Given the description of an element on the screen output the (x, y) to click on. 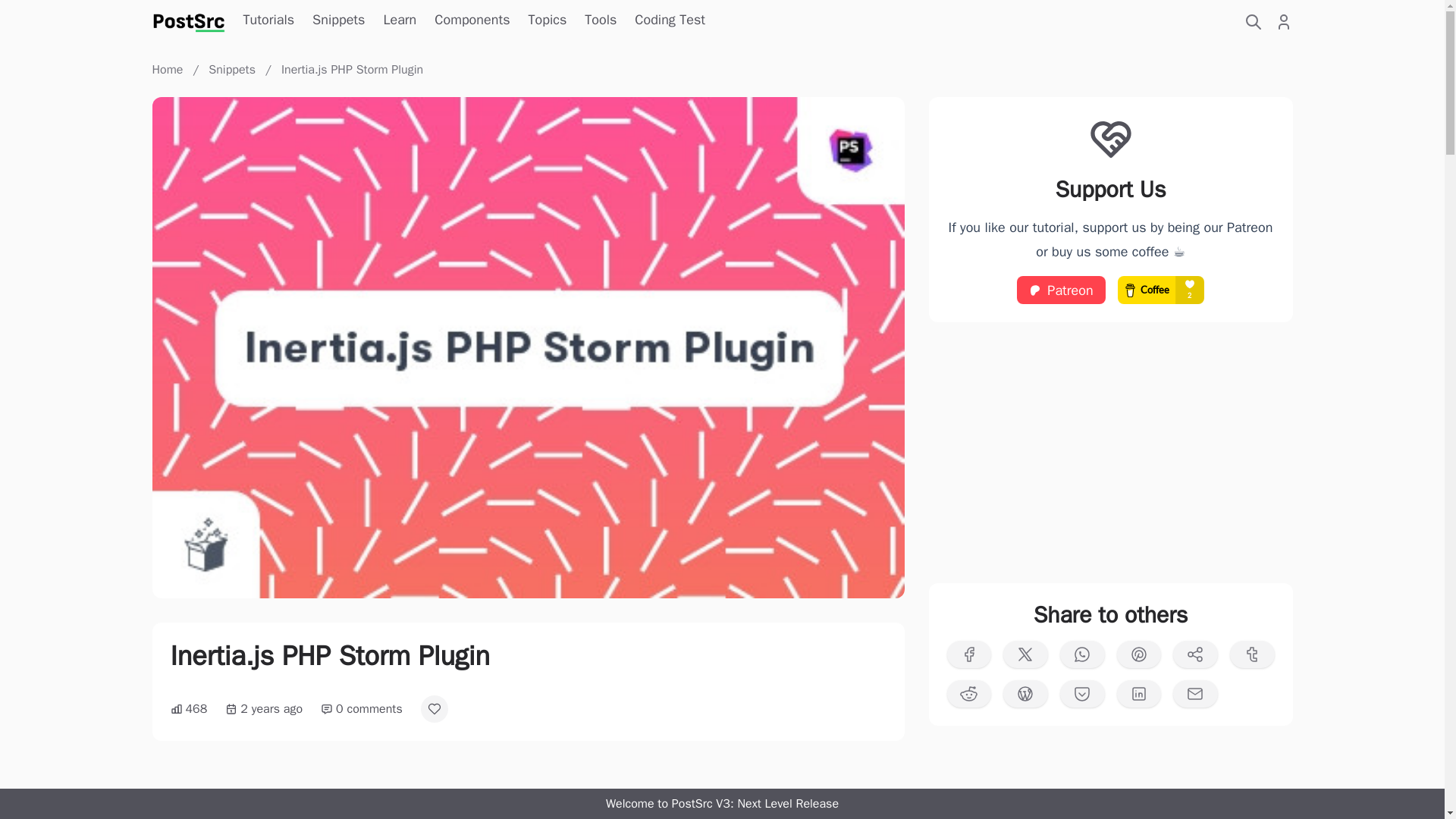
Patreon (1060, 289)
Snippets (233, 69)
Home (168, 69)
Share this post to reddit (968, 693)
Advertisement (1110, 452)
Share this post to twitter (1025, 654)
Tutorials (268, 21)
Share this post to pocket (1082, 693)
Inertia.js PHP Storm Plugin (352, 69)
Snippets (339, 21)
Coding Test (669, 21)
Advertisement (1110, 784)
Advertisement (527, 791)
Share this post to linkedin (1138, 693)
Share this post to whatsapp (1082, 654)
